Given the description of an element on the screen output the (x, y) to click on. 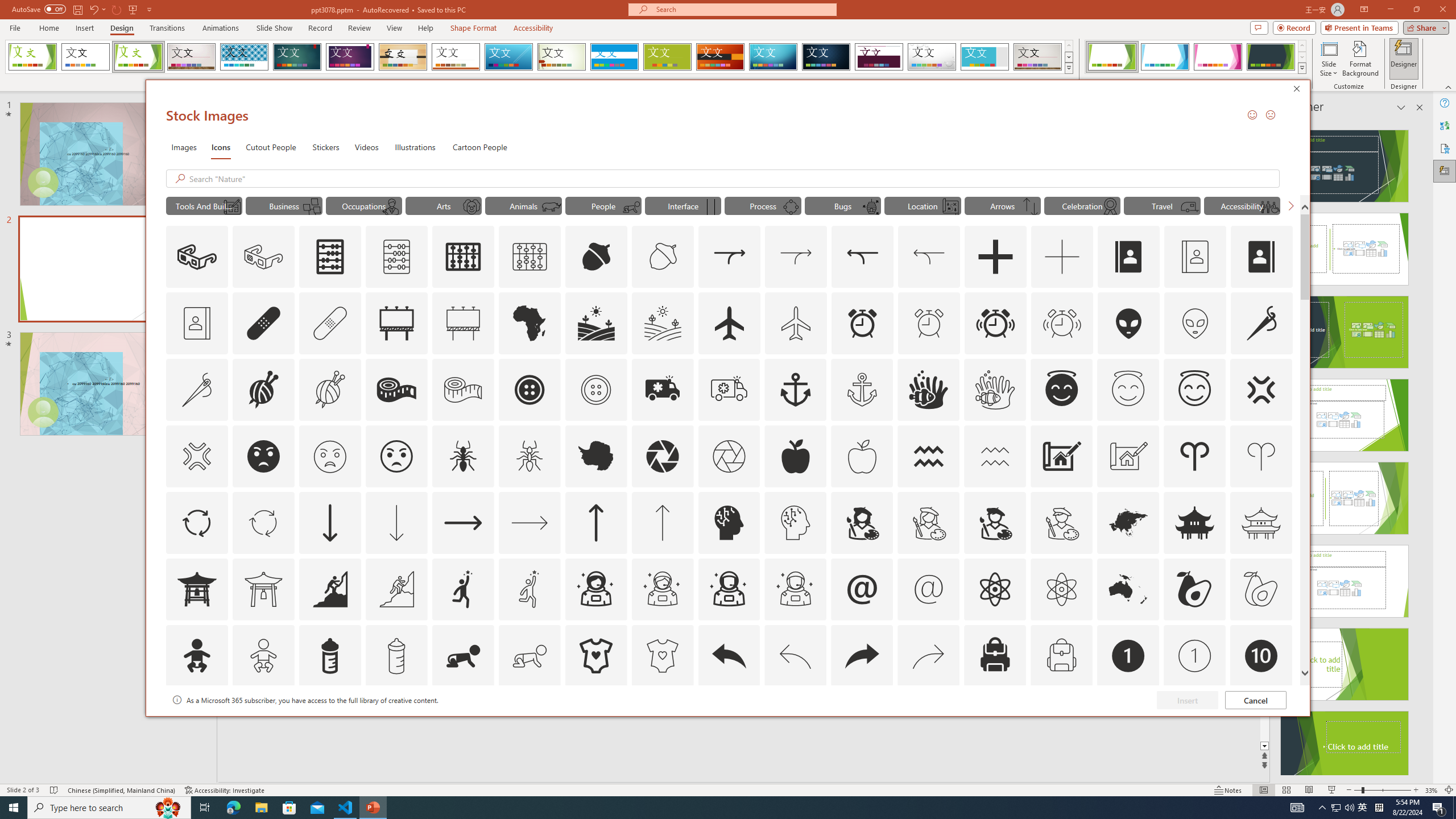
AutomationID: Icons_AlterationsTailoring2_M (462, 389)
AutomationID: Icons_Aperture (662, 455)
AutomationID: Icons_3dGlasses_M (263, 256)
Zoom 33% (1431, 790)
AutomationID: Icons_Avocado_M (1260, 588)
AutomationID: Icons_AlarmClock (863, 323)
"Process" Icons. (762, 205)
